Given the description of an element on the screen output the (x, y) to click on. 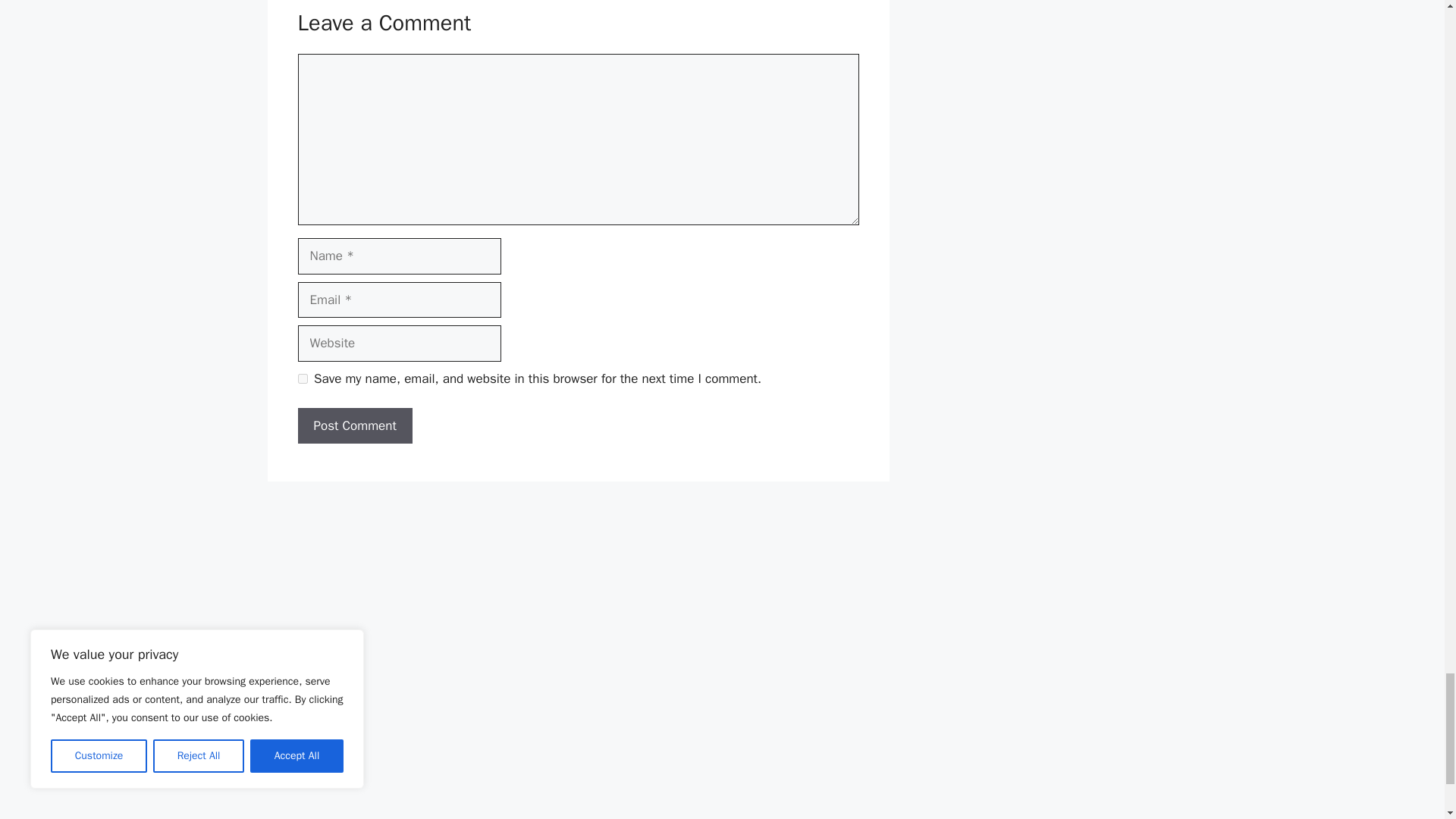
Post Comment (354, 425)
Post Comment (354, 425)
yes (302, 378)
